Given the description of an element on the screen output the (x, y) to click on. 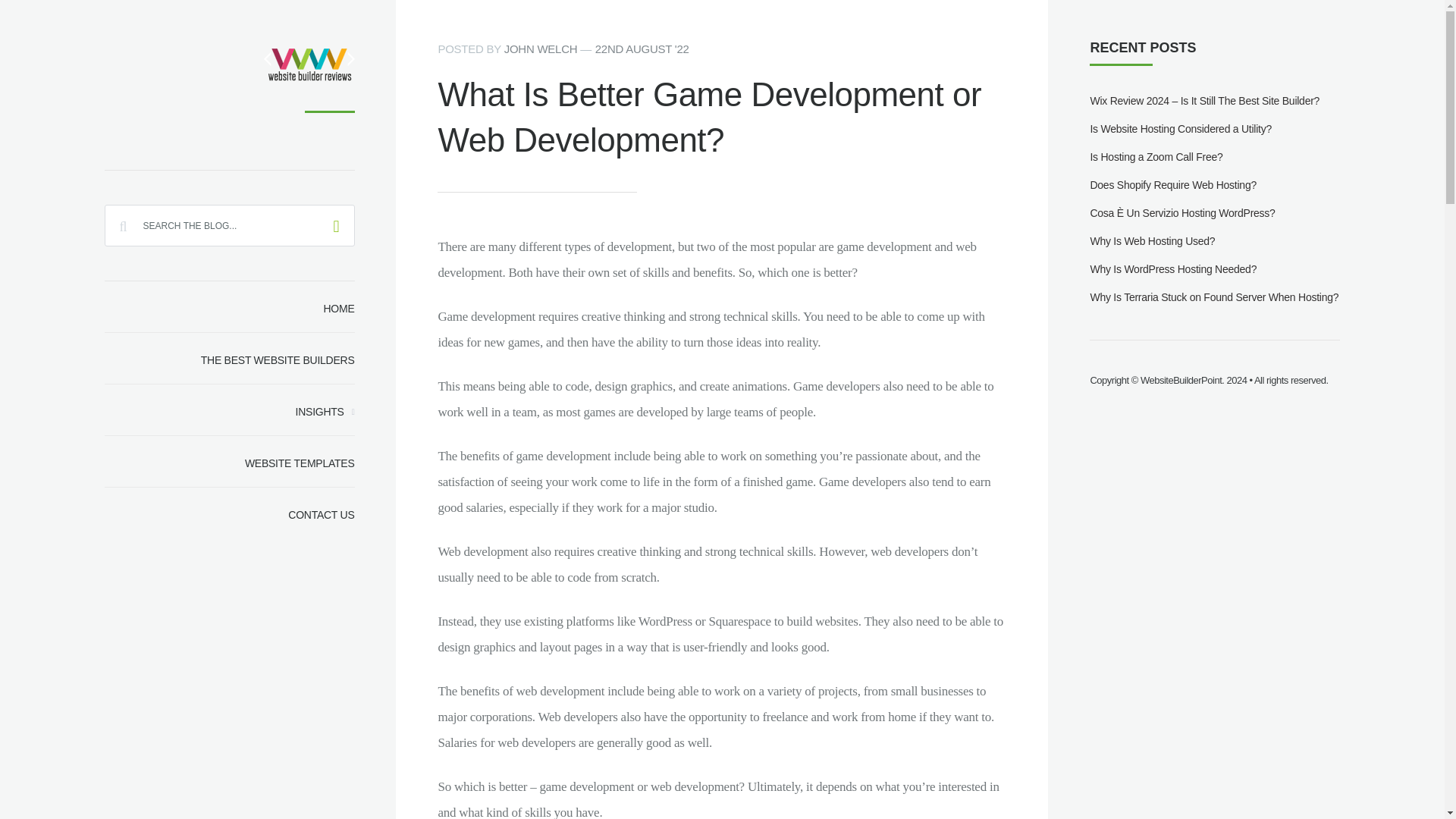
CONTACT US (229, 512)
WEBSITE TEMPLATES (229, 461)
INSIGHTS (229, 409)
THE BEST WEBSITE BUILDERS (229, 358)
JOHN WELCH (540, 48)
22ND AUGUST '22 (641, 48)
HOME (229, 306)
